Given the description of an element on the screen output the (x, y) to click on. 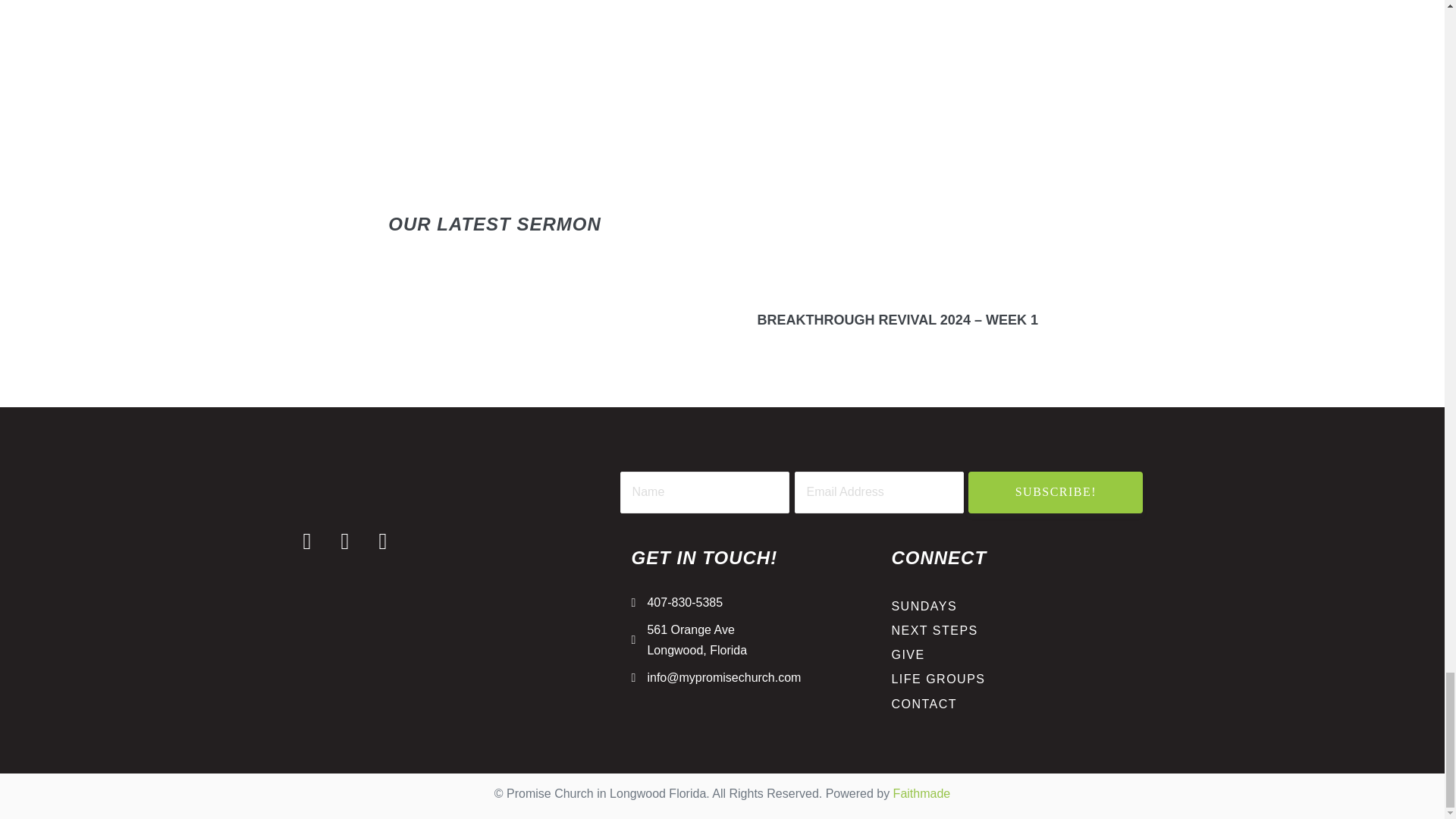
promise church logo (437, 481)
Facebook (306, 541)
YouTube (381, 541)
SUBSCRIBE! (1055, 492)
Instagram (344, 541)
